Given the description of an element on the screen output the (x, y) to click on. 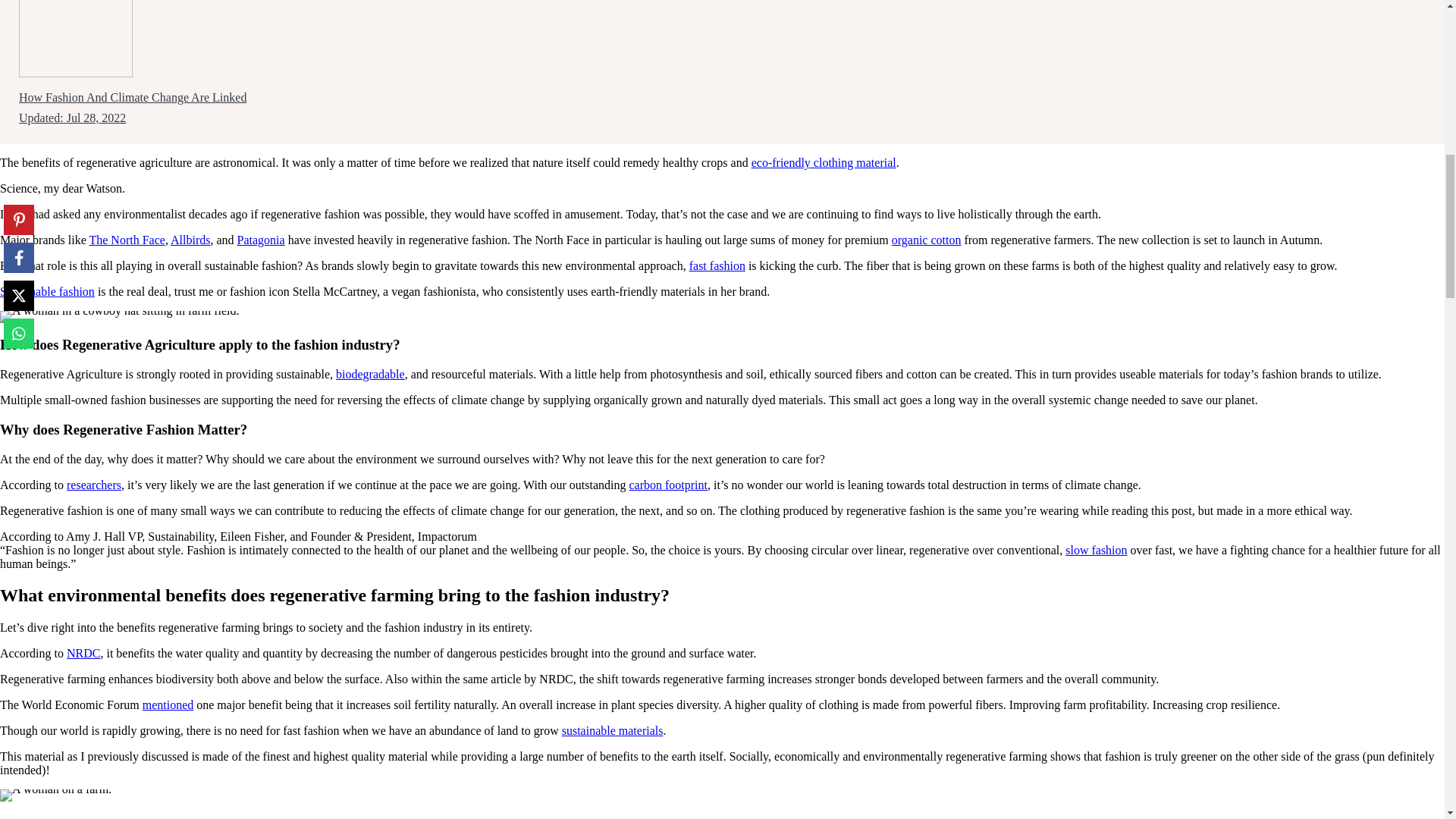
organic cotton (925, 239)
NRDC (83, 653)
Sustainable fashion (47, 291)
The North Face (126, 239)
Patagonia (261, 239)
eco-friendly clothing material (823, 162)
biodegradable (370, 373)
slow fashion (1095, 549)
sustainable materials (612, 730)
carbon footprint (667, 484)
mentioned (167, 704)
fast fashion (716, 265)
Allbirds (189, 239)
researchers (93, 484)
